Given the description of an element on the screen output the (x, y) to click on. 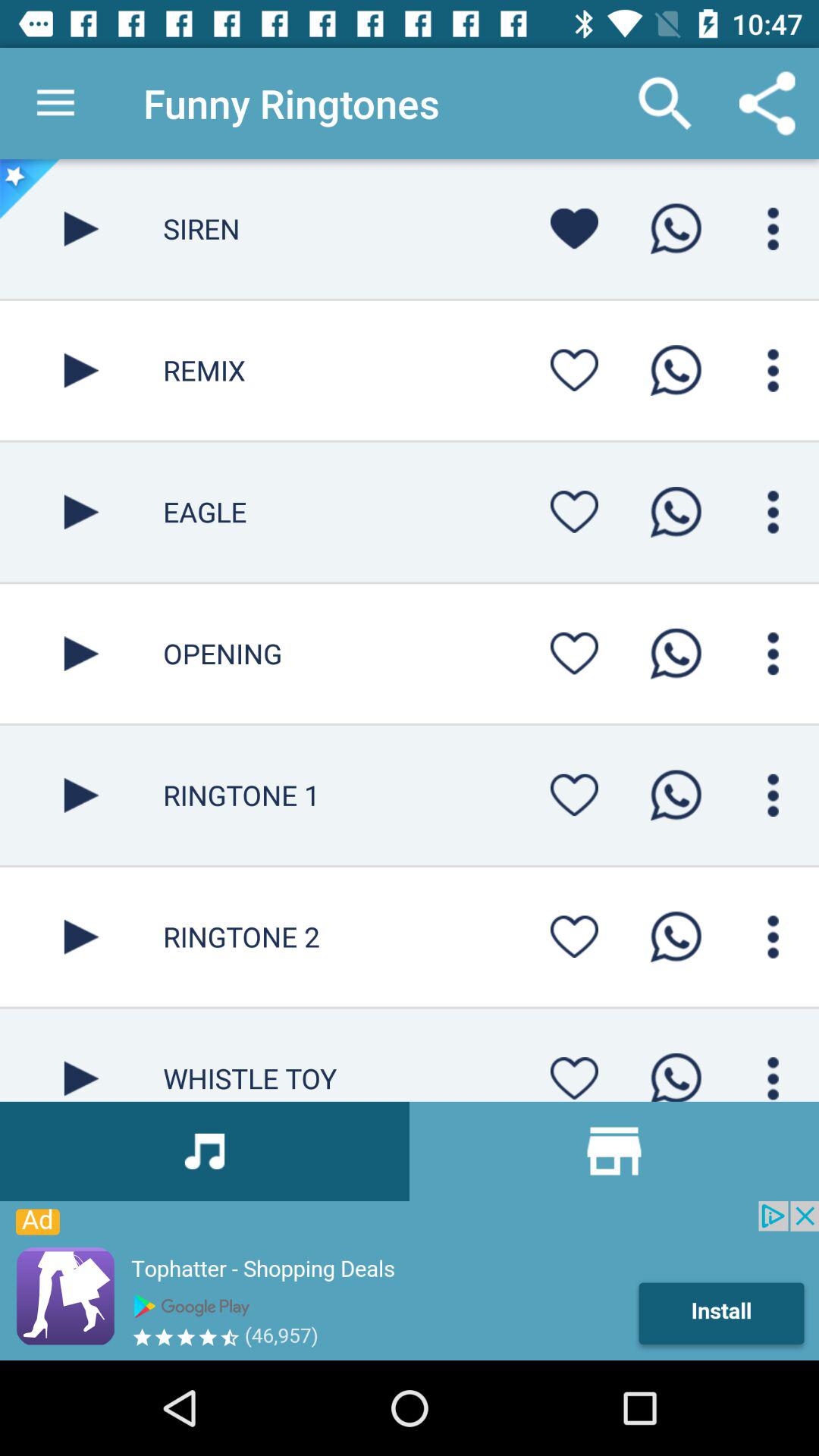
whatsapp the ringtone (675, 370)
